Given the description of an element on the screen output the (x, y) to click on. 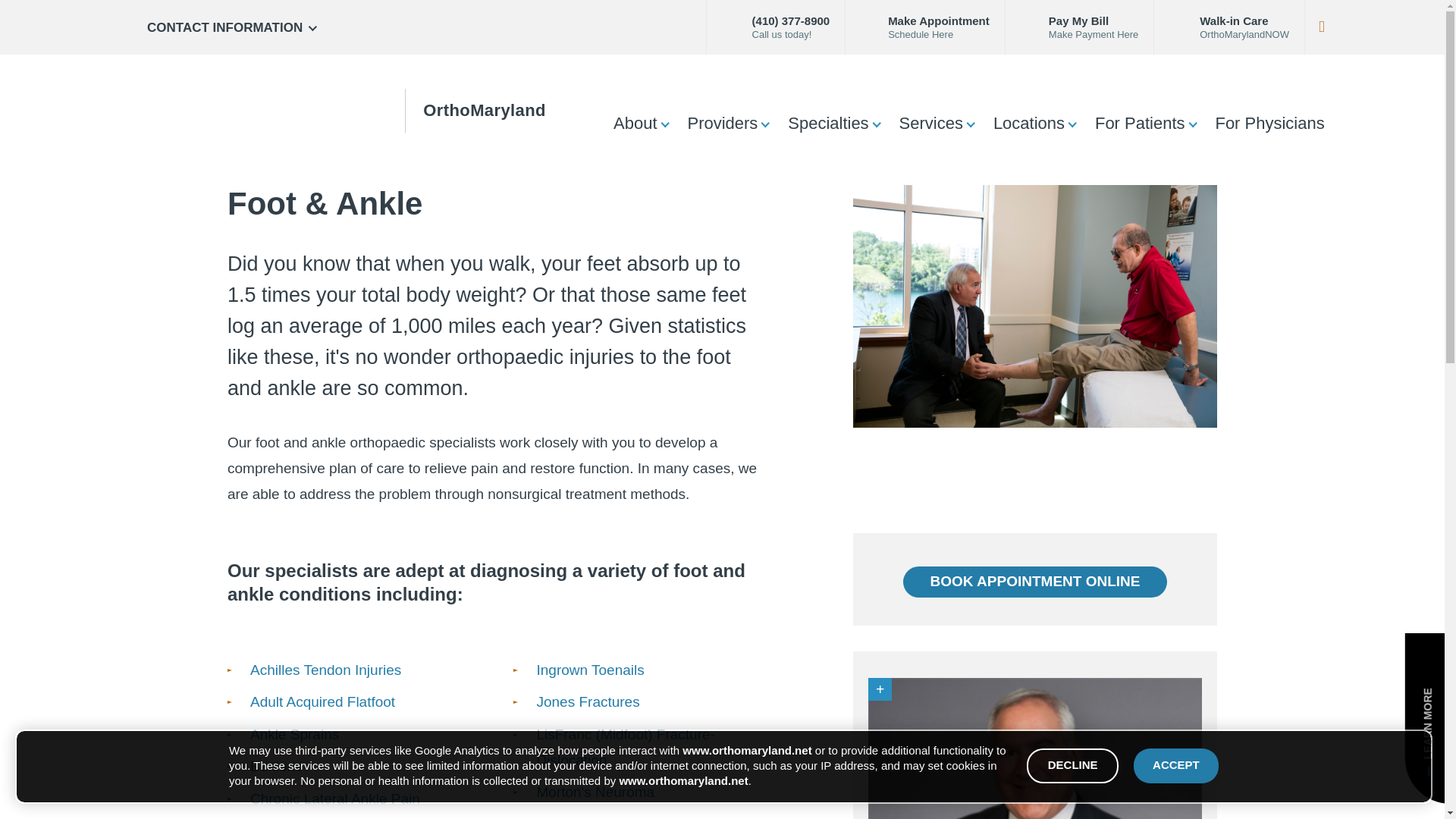
Providers section (764, 123)
About (634, 123)
Services (930, 123)
Specialties section (875, 123)
Providers (722, 123)
Locations (1029, 123)
For Patients section (1192, 123)
Services section (969, 123)
For Patients (1139, 123)
